Given the description of an element on the screen output the (x, y) to click on. 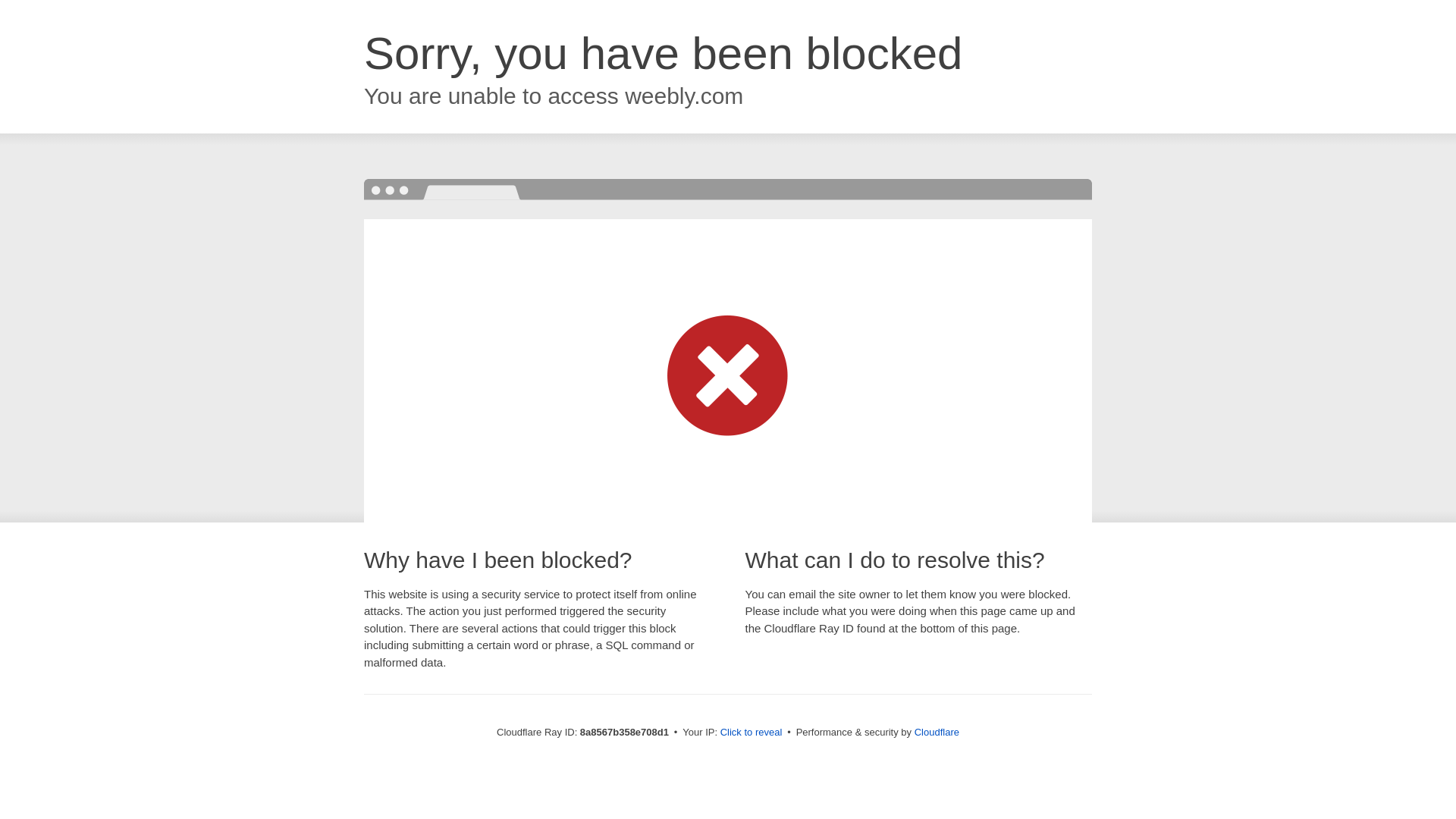
Cloudflare (936, 731)
Click to reveal (751, 732)
